Given the description of an element on the screen output the (x, y) to click on. 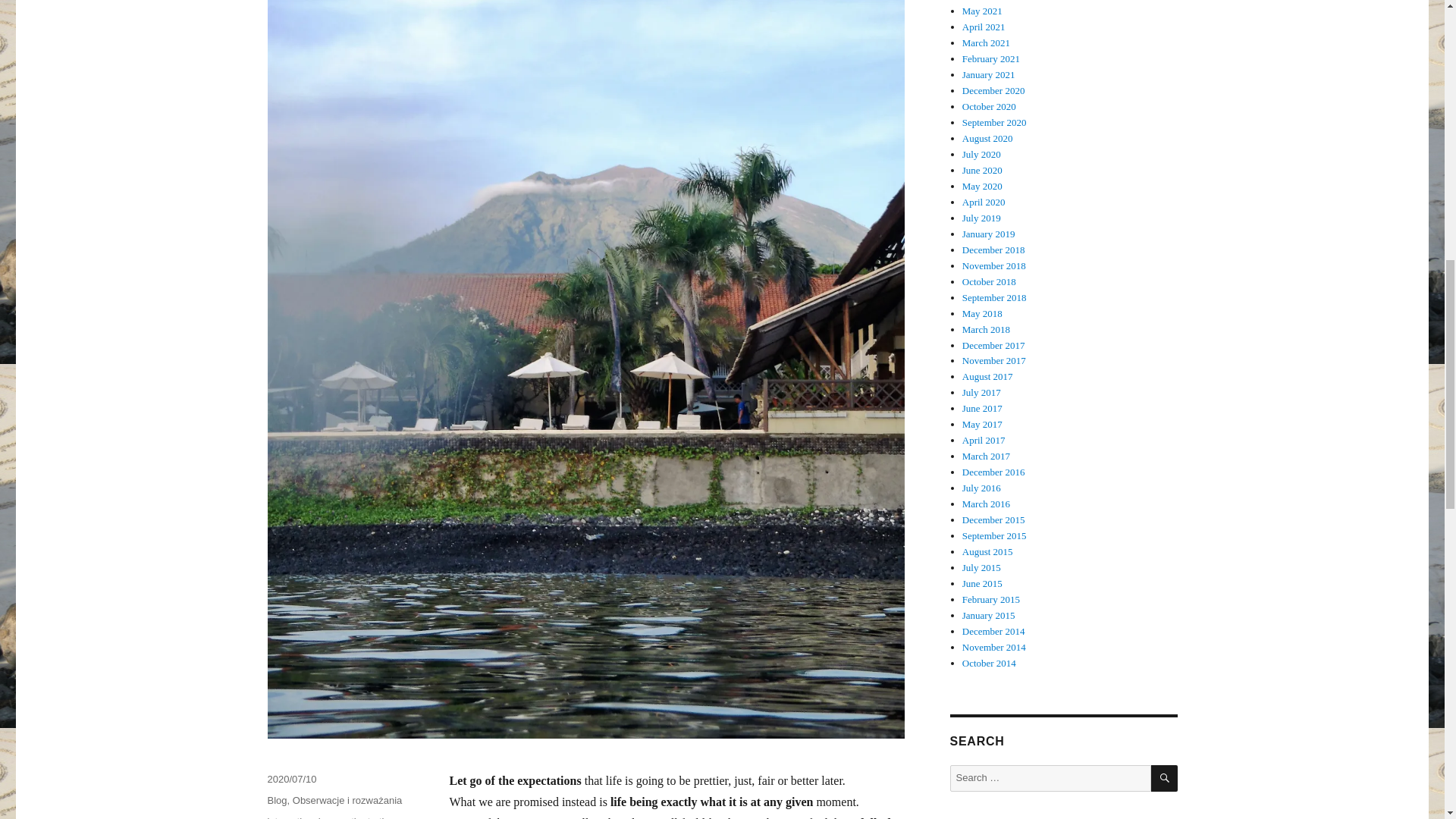
the truth (368, 817)
Blog (276, 799)
the change (321, 817)
let go (278, 817)
